Given the description of an element on the screen output the (x, y) to click on. 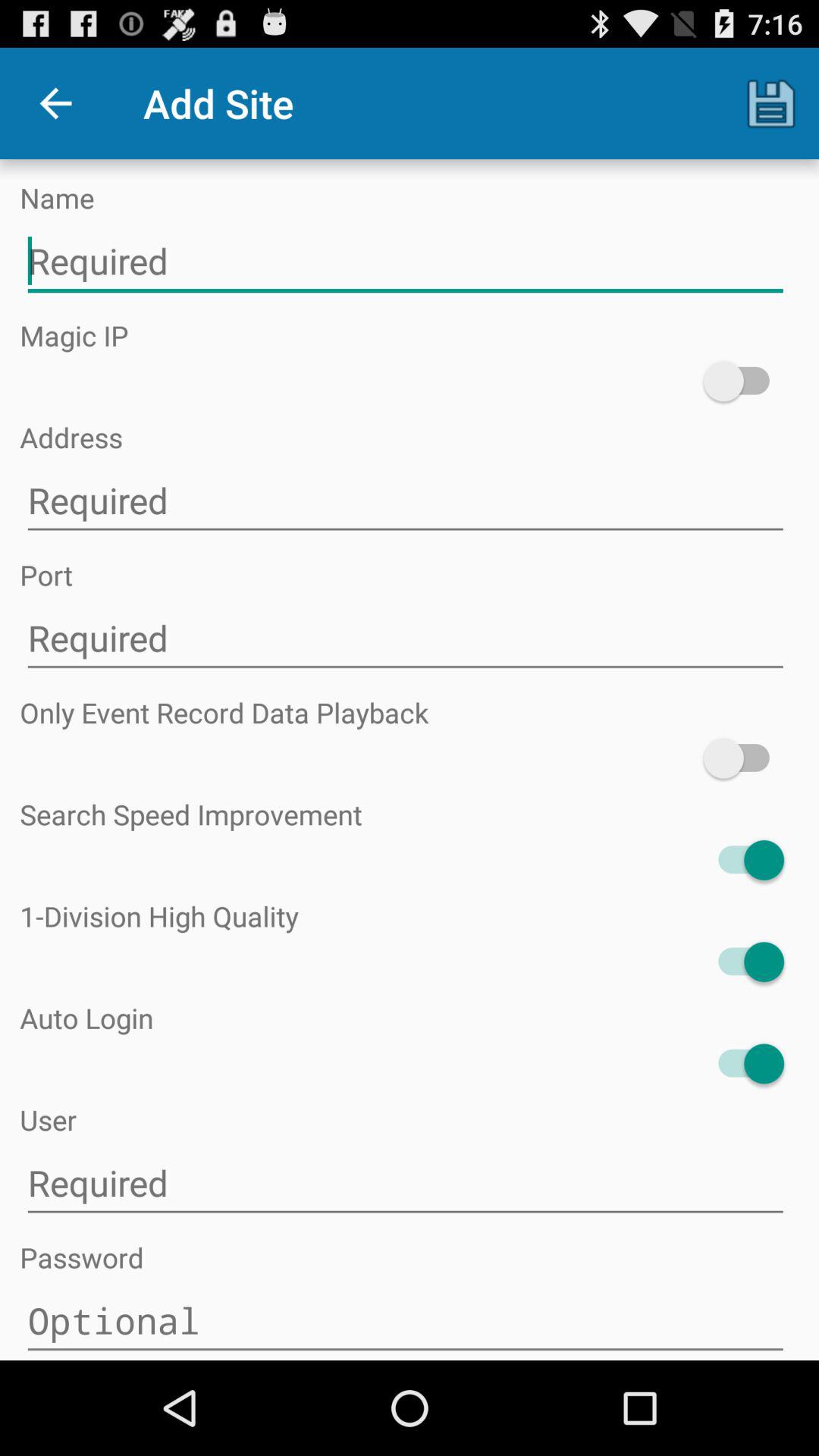
turn on the autologin button (743, 1063)
